Given the description of an element on the screen output the (x, y) to click on. 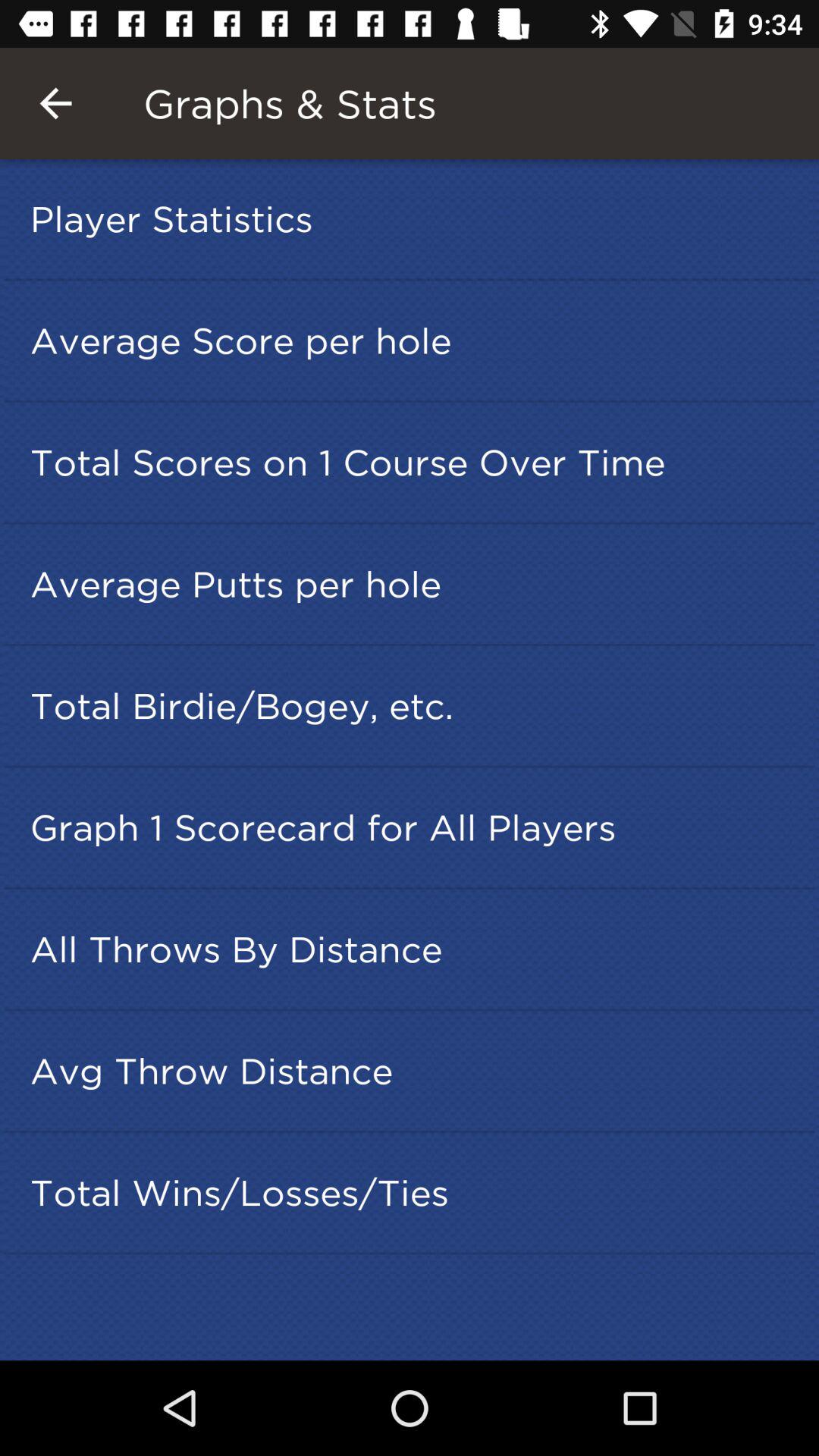
click the item above all throws by item (414, 827)
